Given the description of an element on the screen output the (x, y) to click on. 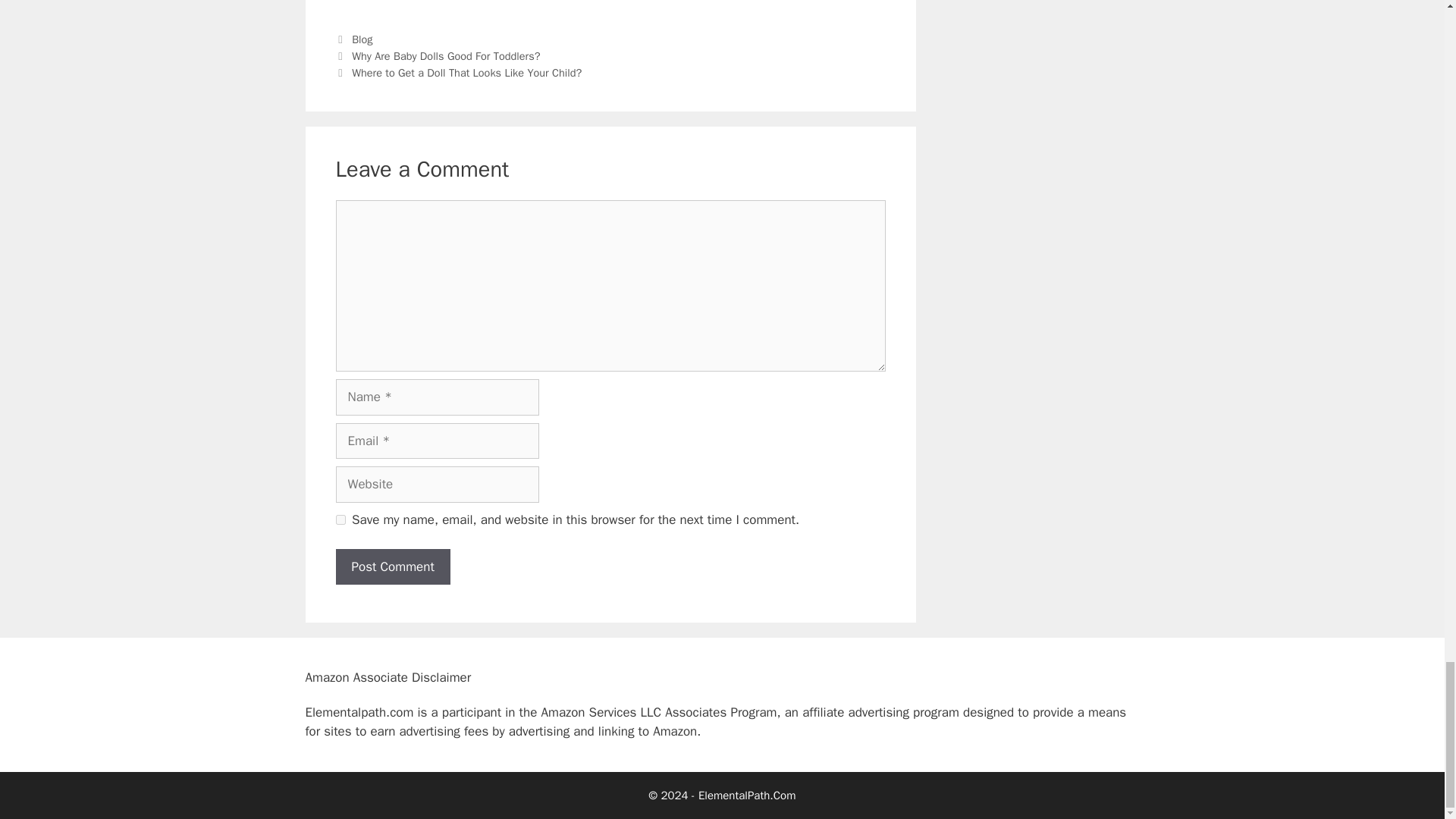
Why Are Baby Dolls Good For Toddlers?  (447, 56)
ElementalPath.Com (747, 795)
Where to Get a Doll That Looks Like Your Child? (466, 72)
Blog (362, 38)
Post Comment (391, 566)
Post Comment (391, 566)
yes (339, 519)
